Given the description of an element on the screen output the (x, y) to click on. 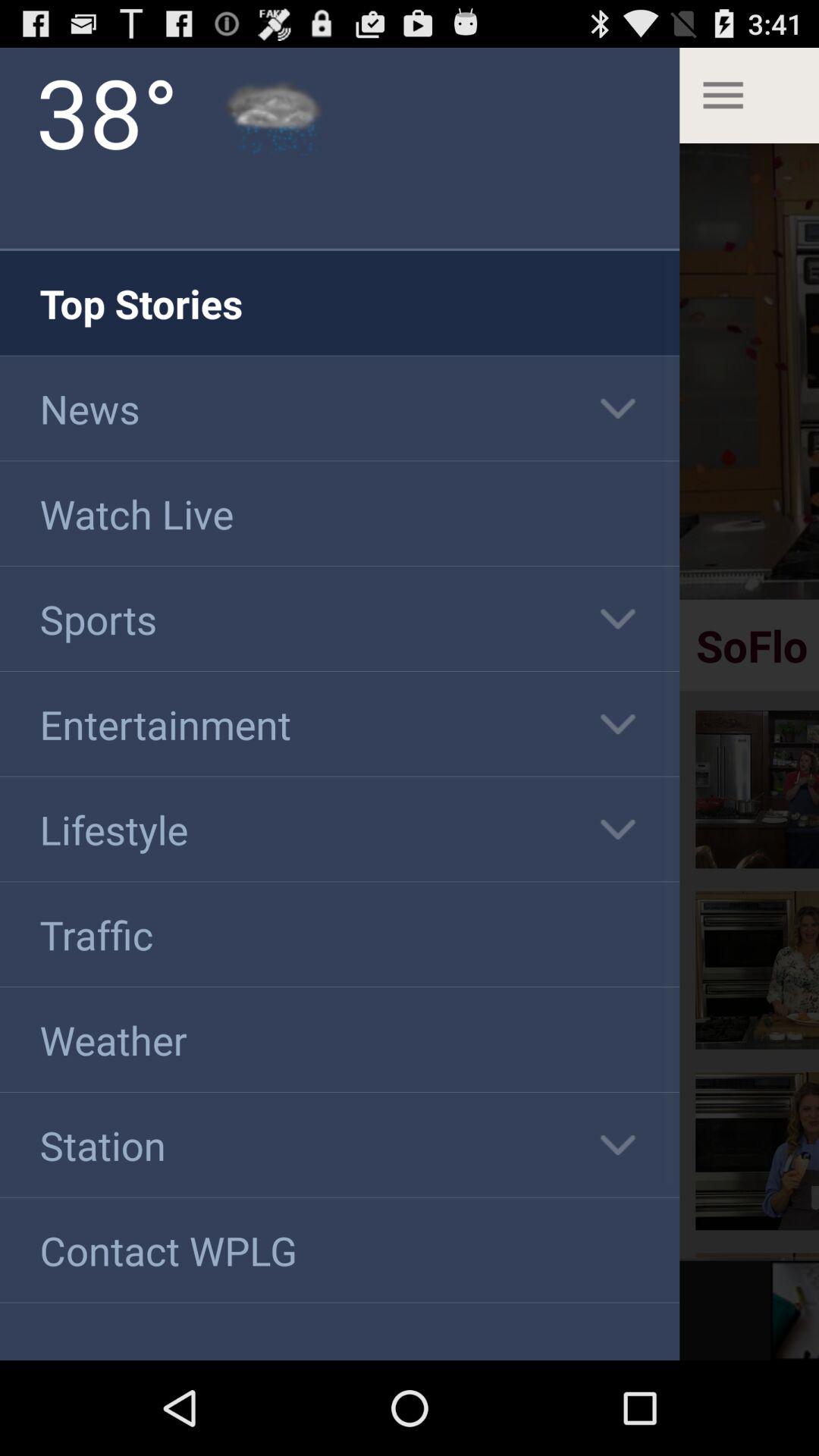
click the top right more option (749, 95)
click on drop down button which is next to news (617, 407)
